Given the description of an element on the screen output the (x, y) to click on. 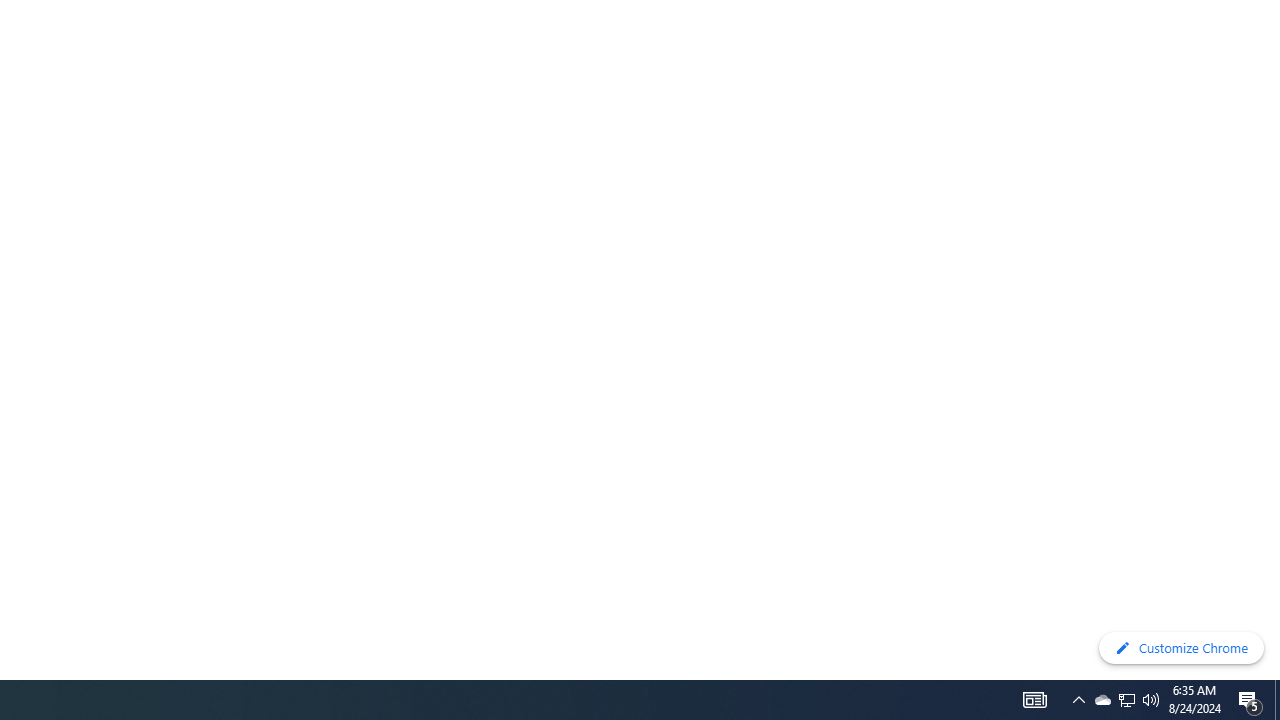
Customize Chrome (1181, 647)
